Given the description of an element on the screen output the (x, y) to click on. 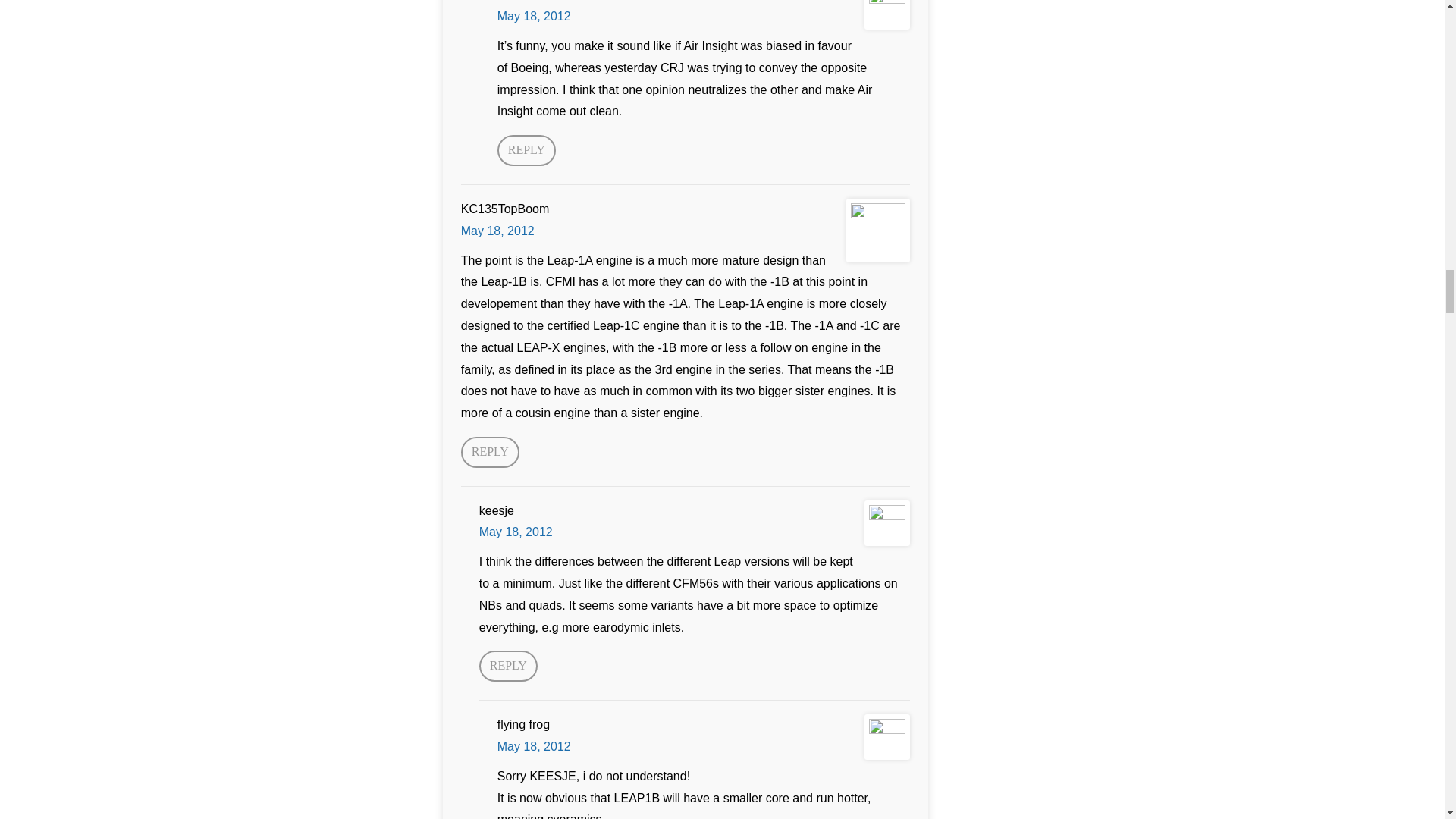
May 18, 2012 (533, 15)
